Given the description of an element on the screen output the (x, y) to click on. 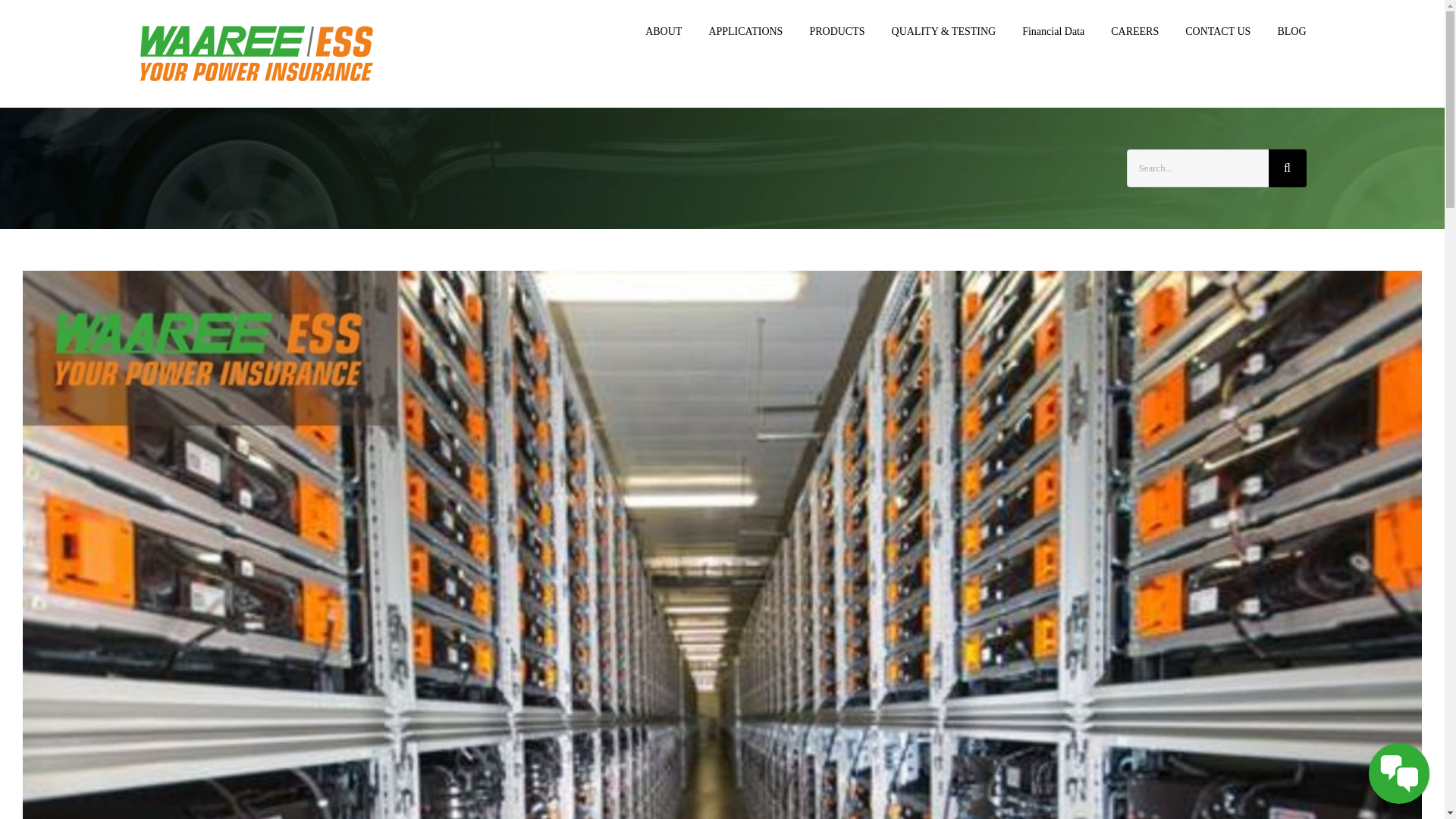
APPLICATIONS (745, 31)
Financial Data (1053, 31)
CONTACT US (1217, 31)
